Given the description of an element on the screen output the (x, y) to click on. 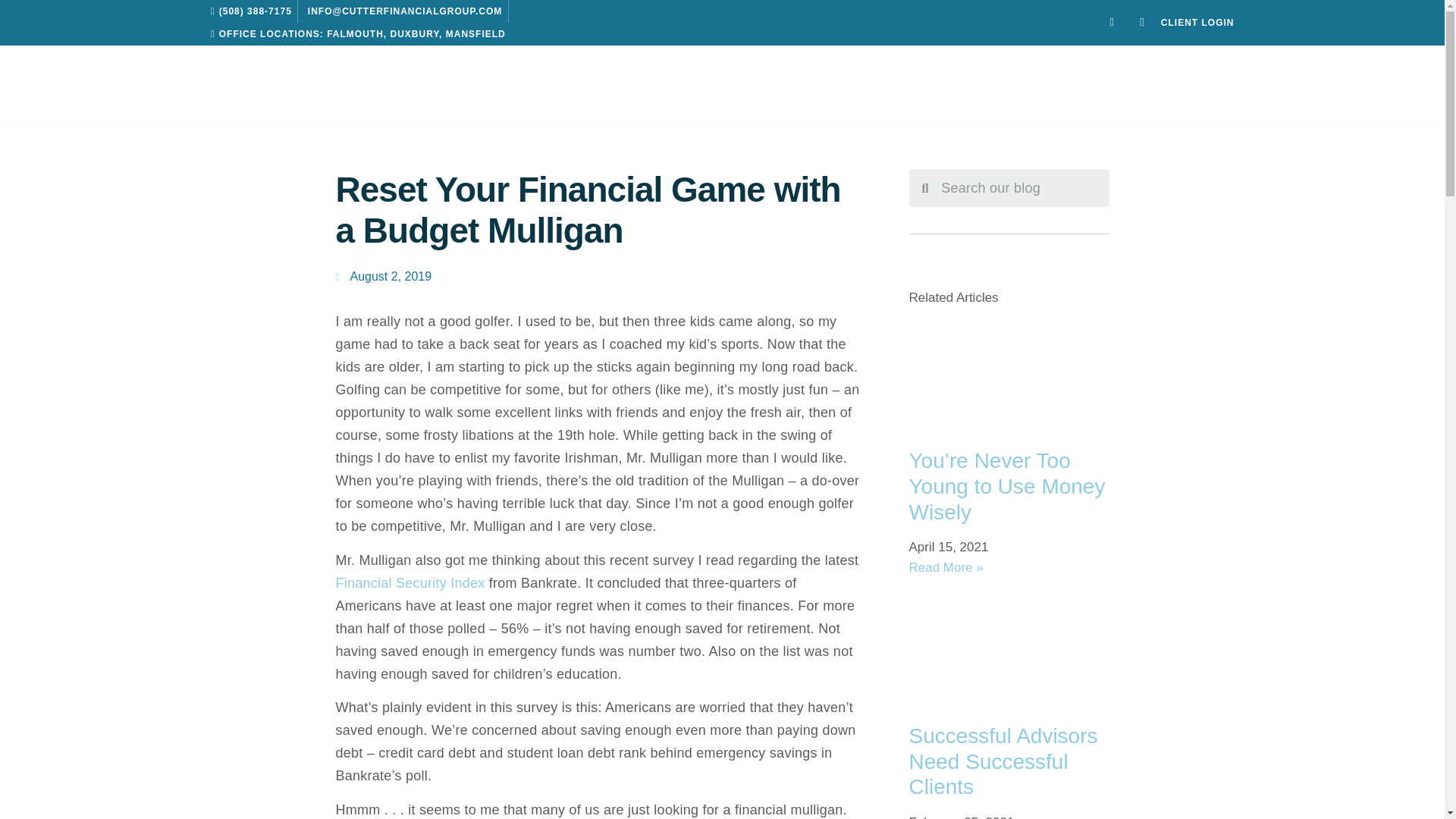
CLIENT LOGIN (1197, 22)
About Us (233, 84)
Client Testimonials (552, 84)
Services (383, 84)
Resources (1011, 84)
OFFICE LOCATIONS: FALMOUTH, DUXBURY, MANSFIELD (354, 33)
Contact Us (1206, 84)
Blog (840, 84)
